Given the description of an element on the screen output the (x, y) to click on. 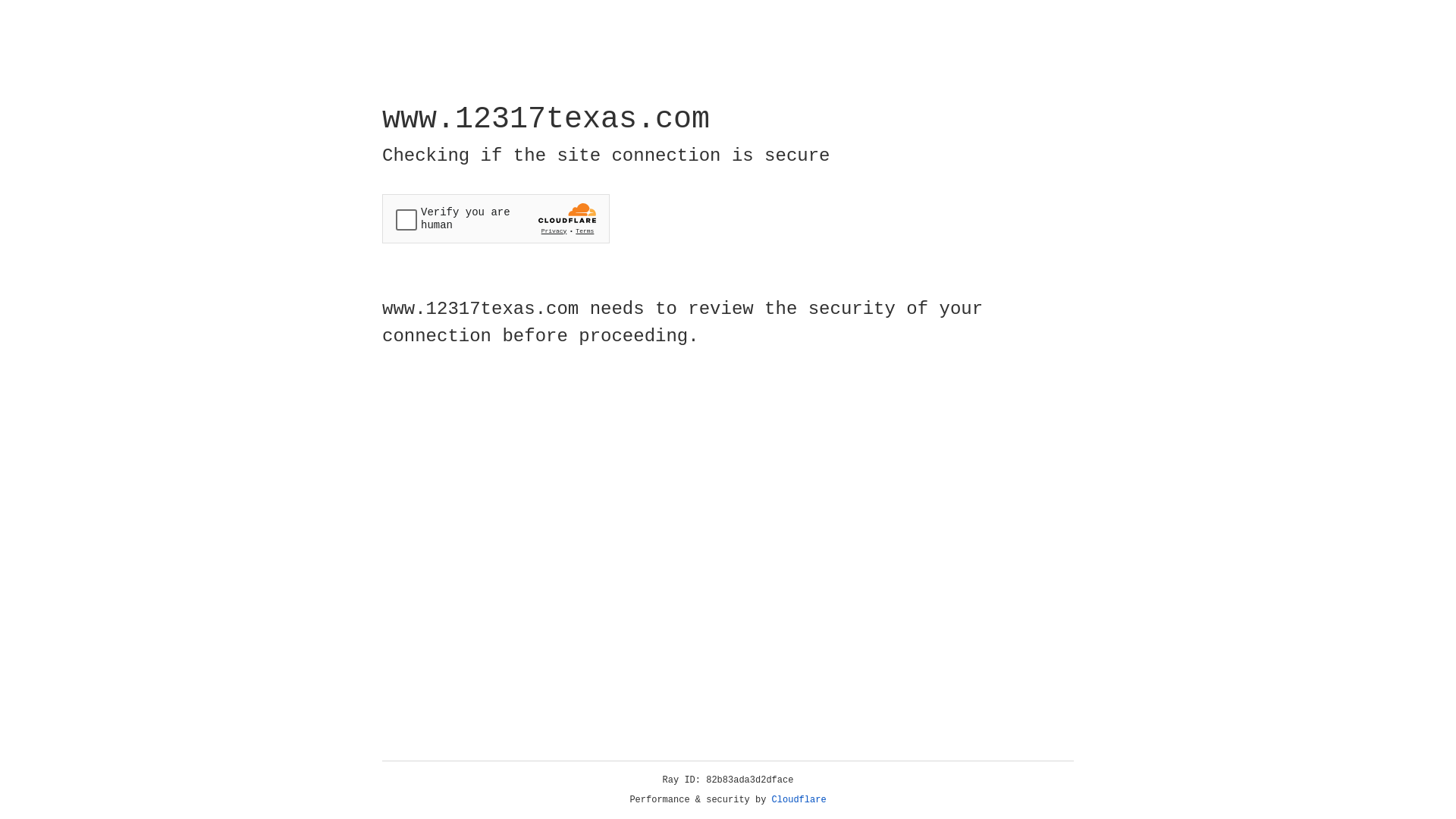
Widget containing a Cloudflare security challenge Element type: hover (495, 218)
Cloudflare Element type: text (798, 799)
